Given the description of an element on the screen output the (x, y) to click on. 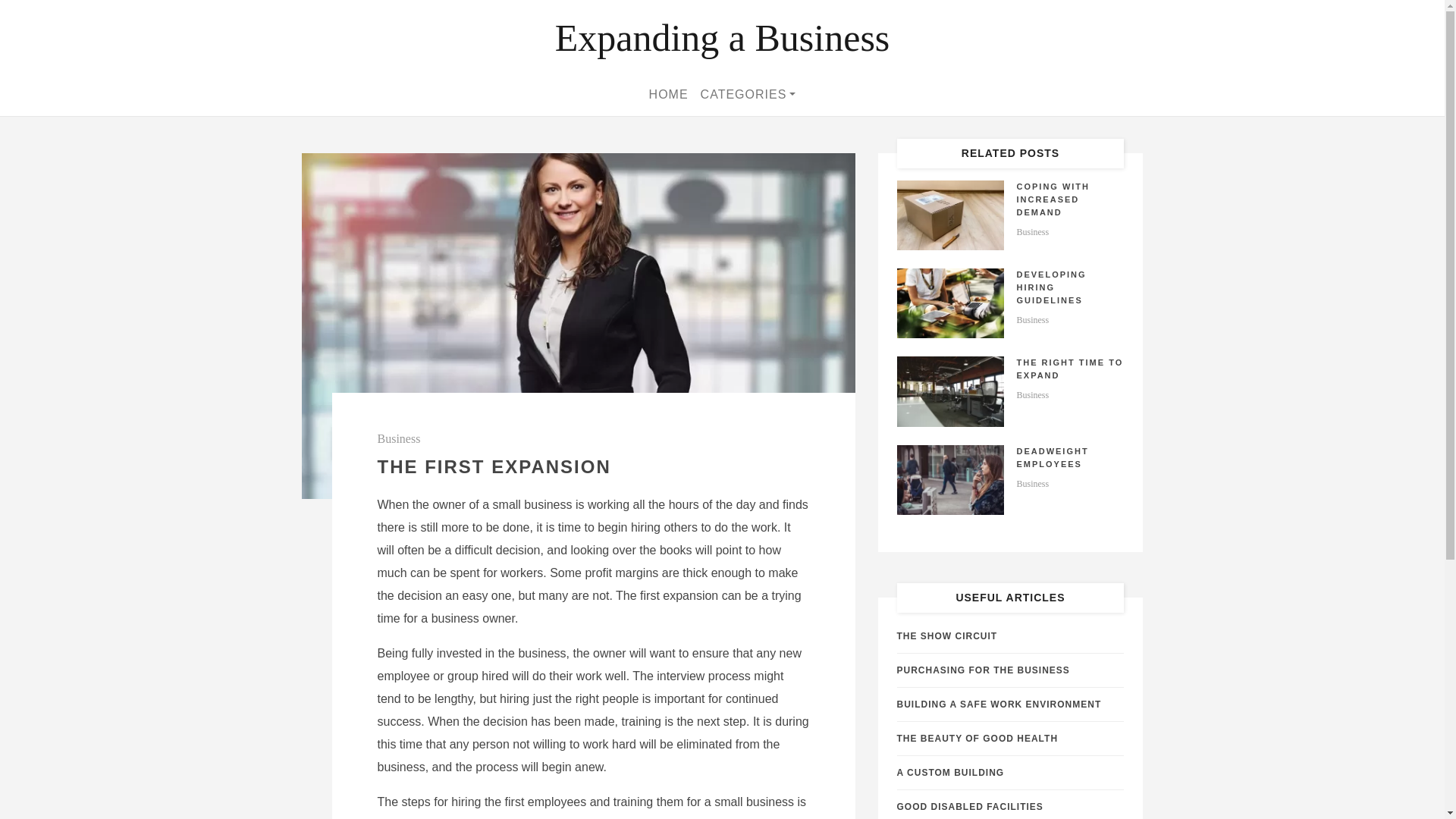
HOME (668, 94)
BUILDING A SAFE WORK ENVIRONMENT (998, 704)
Business (1032, 319)
CATEGORIES (748, 94)
THE RIGHT TIME TO EXPAND (1069, 368)
A CUSTOM BUILDING (950, 772)
GOOD DISABLED FACILITIES (969, 806)
Business (1032, 483)
THE BEAUTY OF GOOD HEALTH (977, 738)
Business (1032, 231)
